Given the description of an element on the screen output the (x, y) to click on. 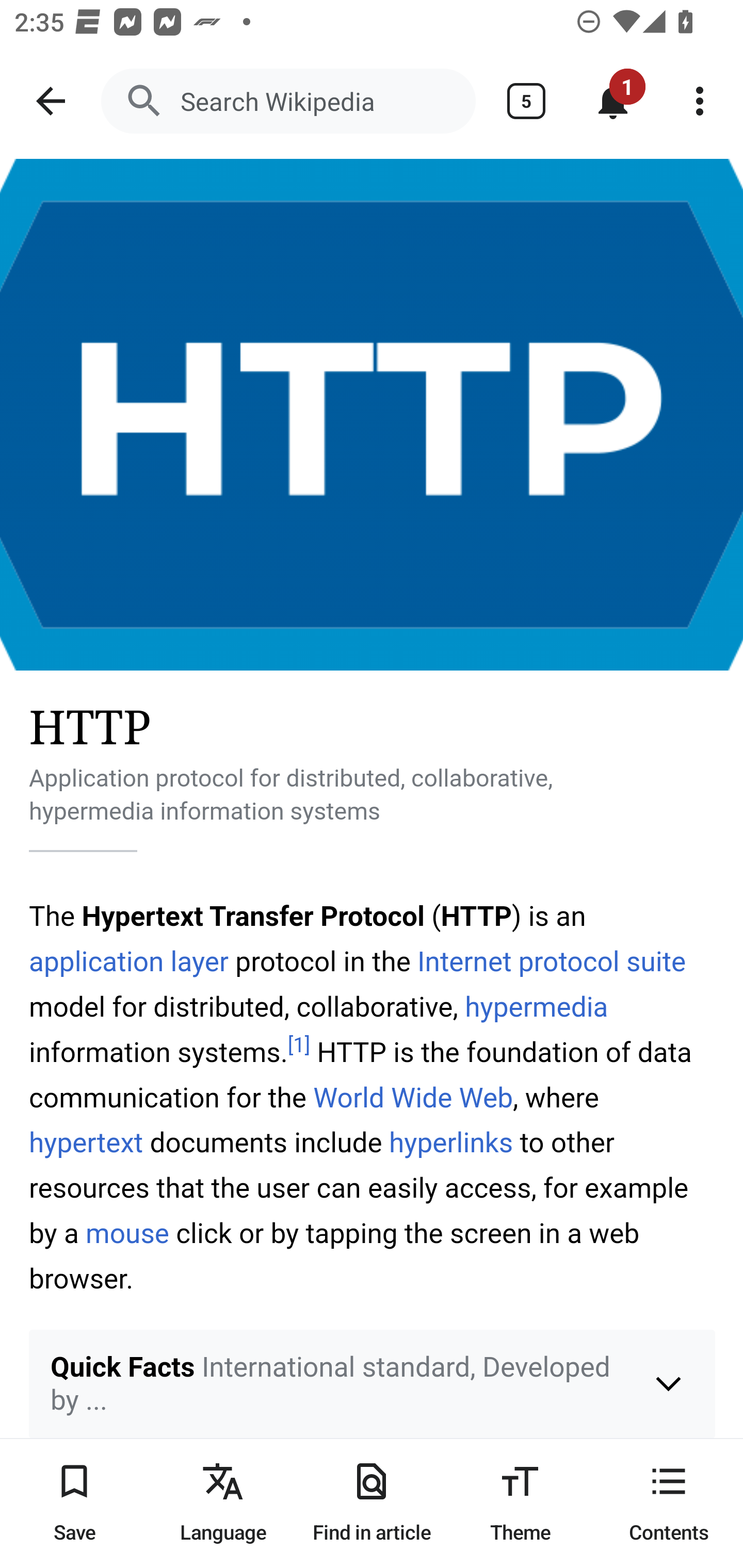
Show tabs 5 (525, 100)
Notifications 1 (612, 100)
Navigate up (50, 101)
More options (699, 101)
Search Wikipedia (288, 100)
Image: HTTP (371, 414)
application layer (128, 961)
Internet protocol suite (552, 961)
hypermedia (535, 1007)
[] [ 1 ] (299, 1045)
World Wide Web (413, 1098)
hypertext (86, 1142)
hyperlinks (450, 1142)
mouse (127, 1233)
Save (74, 1502)
Language (222, 1502)
Find in article (371, 1502)
Theme (519, 1502)
Contents (668, 1502)
